Given the description of an element on the screen output the (x, y) to click on. 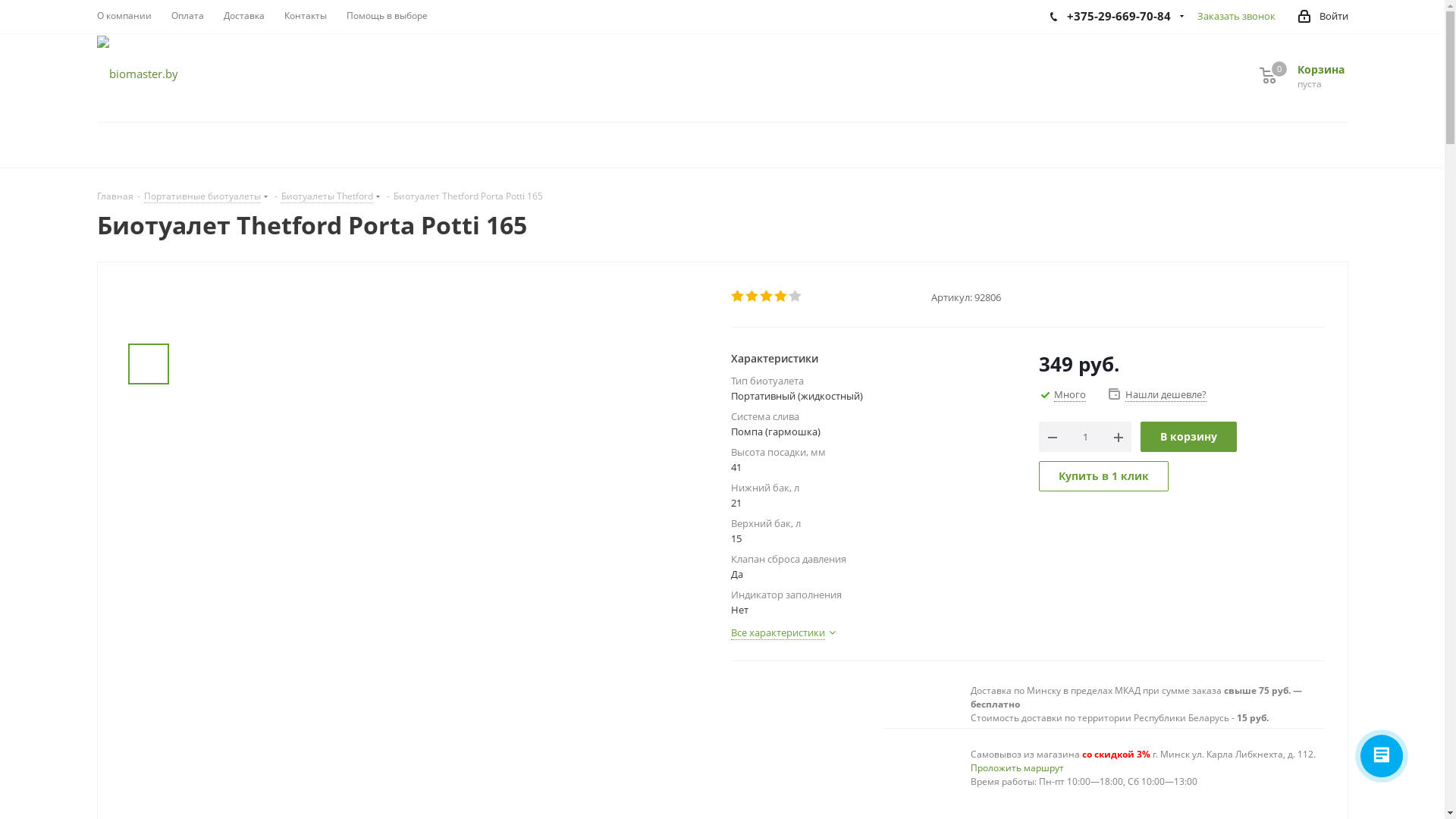
Next Element type: text (147, 592)
5 Element type: hover (795, 296)
3 Element type: hover (766, 296)
4 Element type: hover (780, 296)
biomaster.by Element type: hover (137, 72)
1 Element type: hover (738, 296)
2 Element type: hover (751, 296)
Prev Element type: text (147, 330)
